Given the description of an element on the screen output the (x, y) to click on. 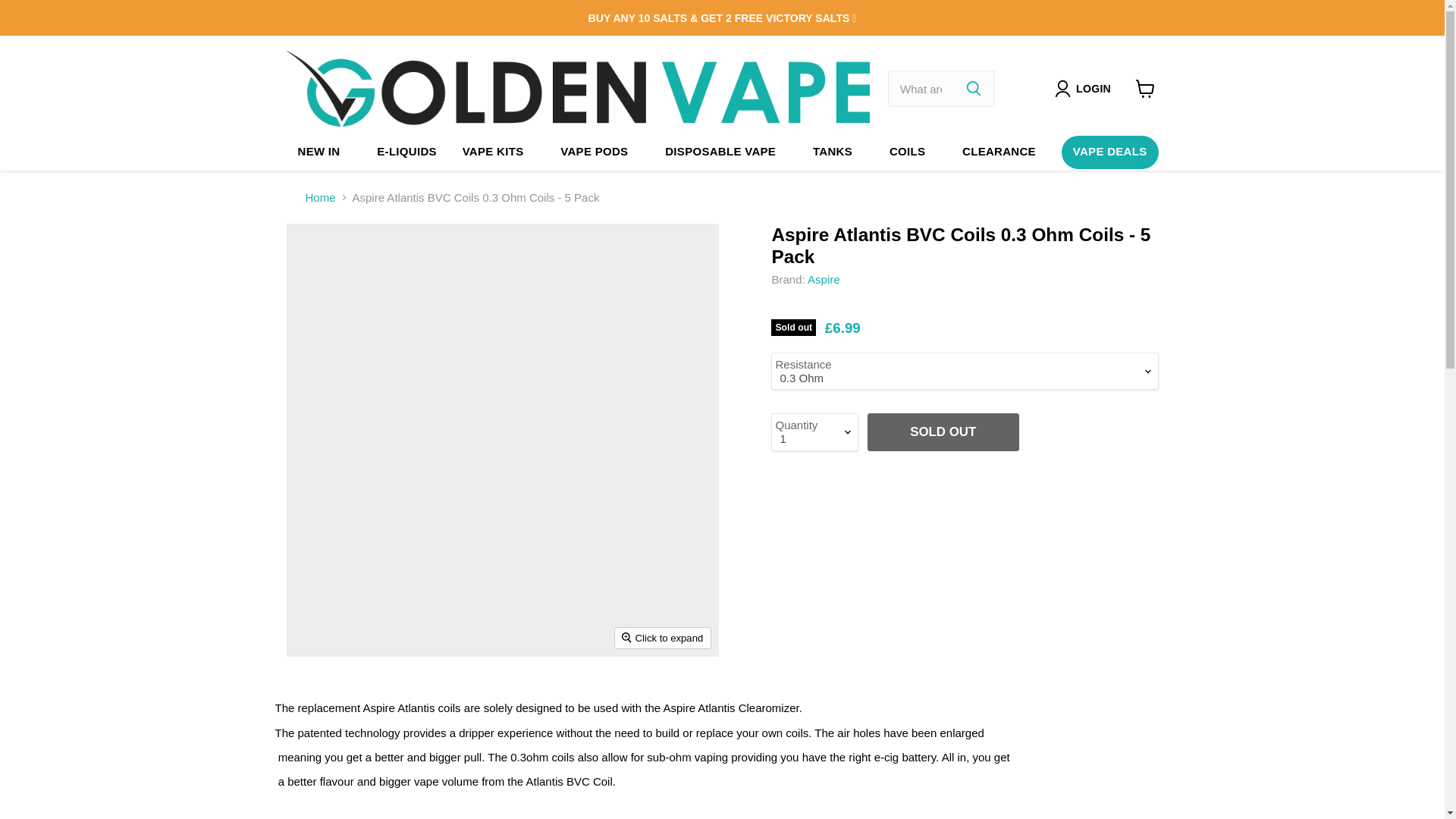
Aspire (824, 278)
E-LIQUIDS (406, 151)
View cart (1144, 88)
NEW IN (319, 151)
LOGIN (1093, 88)
